Given the description of an element on the screen output the (x, y) to click on. 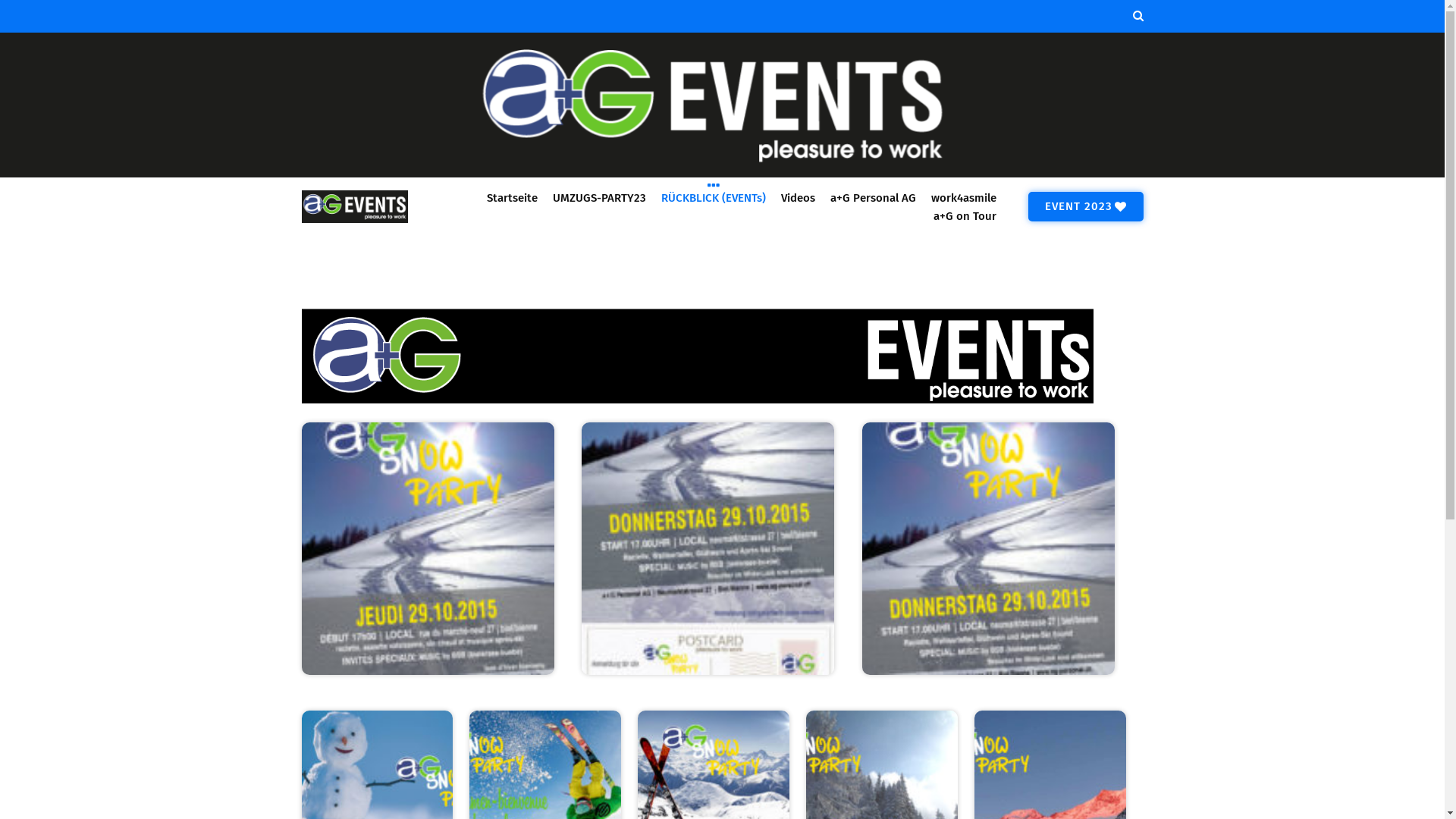
EVENT 2023 Element type: text (1085, 206)
a+G on Tour Element type: text (963, 215)
Beamer Fotos Element type: hover (1050, 785)
Bild6 Element type: hover (377, 785)
work4asmile Element type: text (963, 197)
UMZUGS-PARTY23 Element type: text (598, 197)
Startseite Element type: text (511, 197)
Bild3 Element type: hover (881, 785)
a+G Personal AG Element type: text (872, 197)
Bild4 Element type: hover (713, 785)
Videos Element type: text (798, 197)
Bild5 Element type: hover (545, 785)
